Given the description of an element on the screen output the (x, y) to click on. 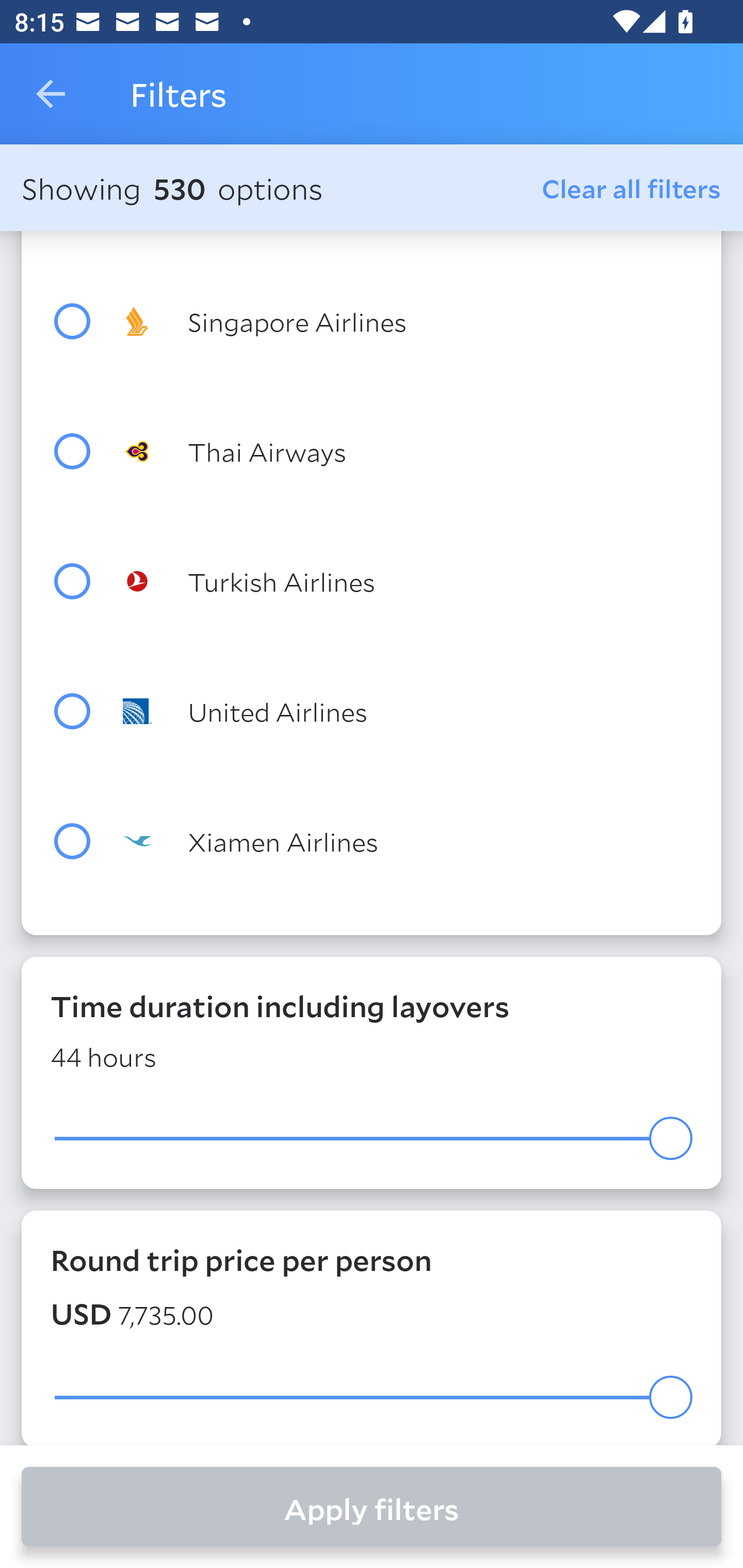
Navigate up (50, 93)
Clear all filters (631, 187)
Singapore Airlines (407, 321)
Thai Airways (407, 451)
Turkish Airlines (407, 581)
United Airlines (407, 710)
Xiamen Airlines (407, 840)
Apply filters (371, 1506)
